Given the description of an element on the screen output the (x, y) to click on. 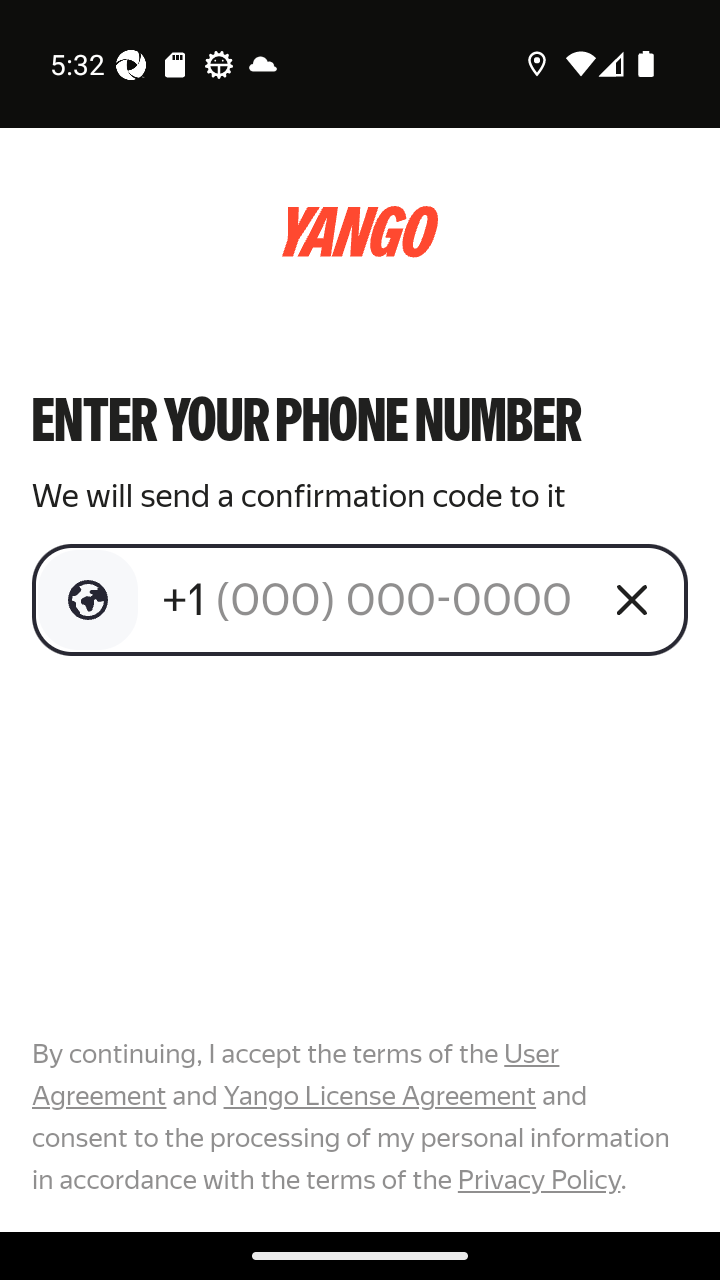
logo (359, 231)
  (88, 600)
+1 (372, 599)
User Agreement (295, 1075)
Yango License Agreement (379, 1096)
Privacy Policy (538, 1179)
